Given the description of an element on the screen output the (x, y) to click on. 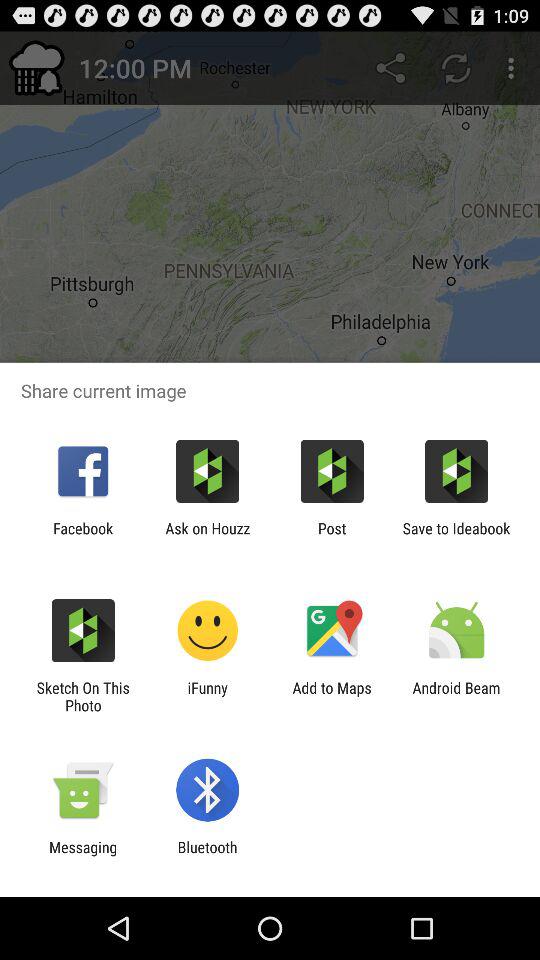
click the icon next to save to ideabook app (331, 537)
